Given the description of an element on the screen output the (x, y) to click on. 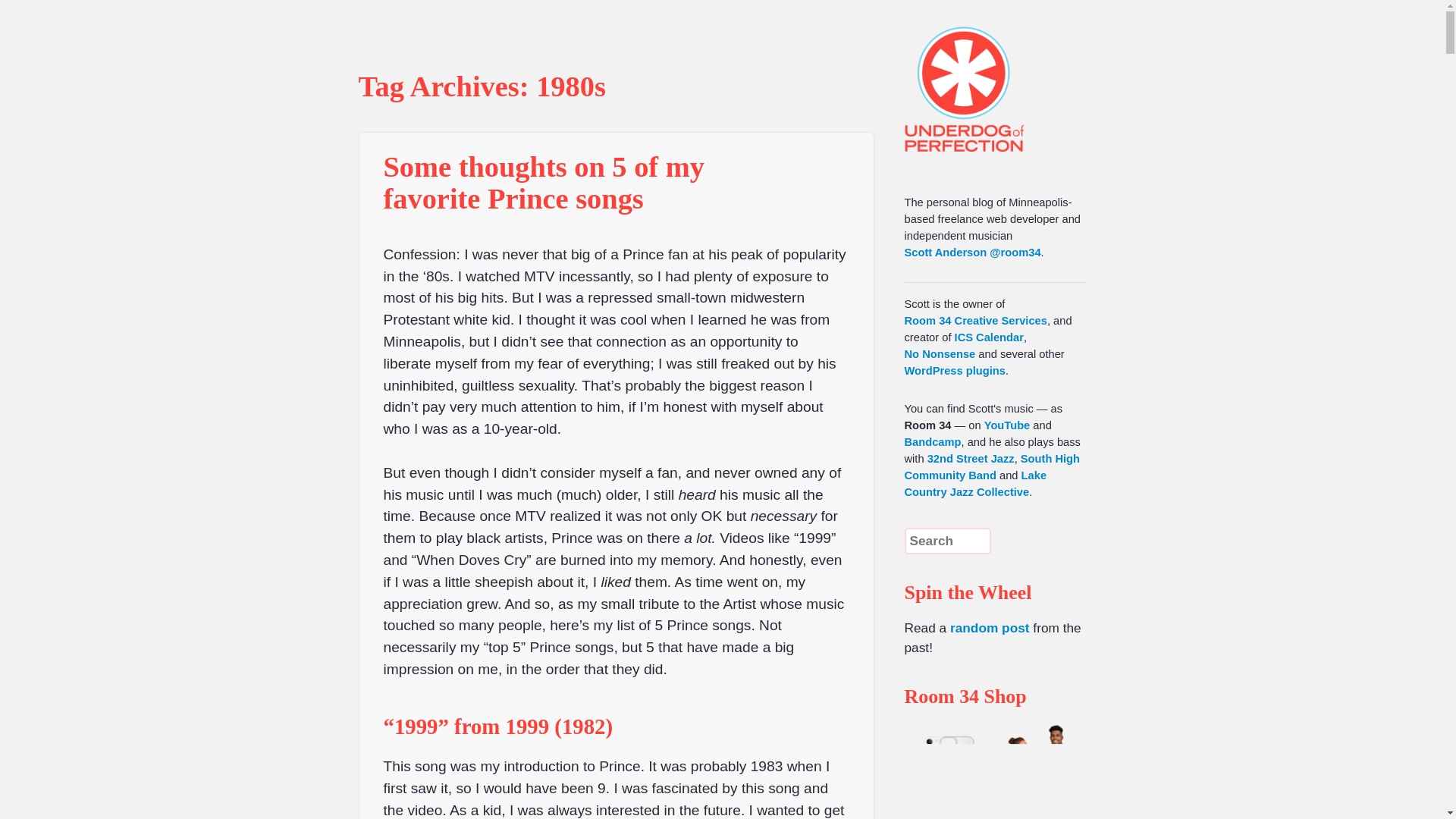
Some thoughts on 5 of my favorite Prince songs (544, 182)
UNDERDOG of PERFECTION (991, 75)
Permalink to Some thoughts on 5 of my favorite Prince songs (544, 182)
UNDERDOG of PERFECTION (991, 75)
